Given the description of an element on the screen output the (x, y) to click on. 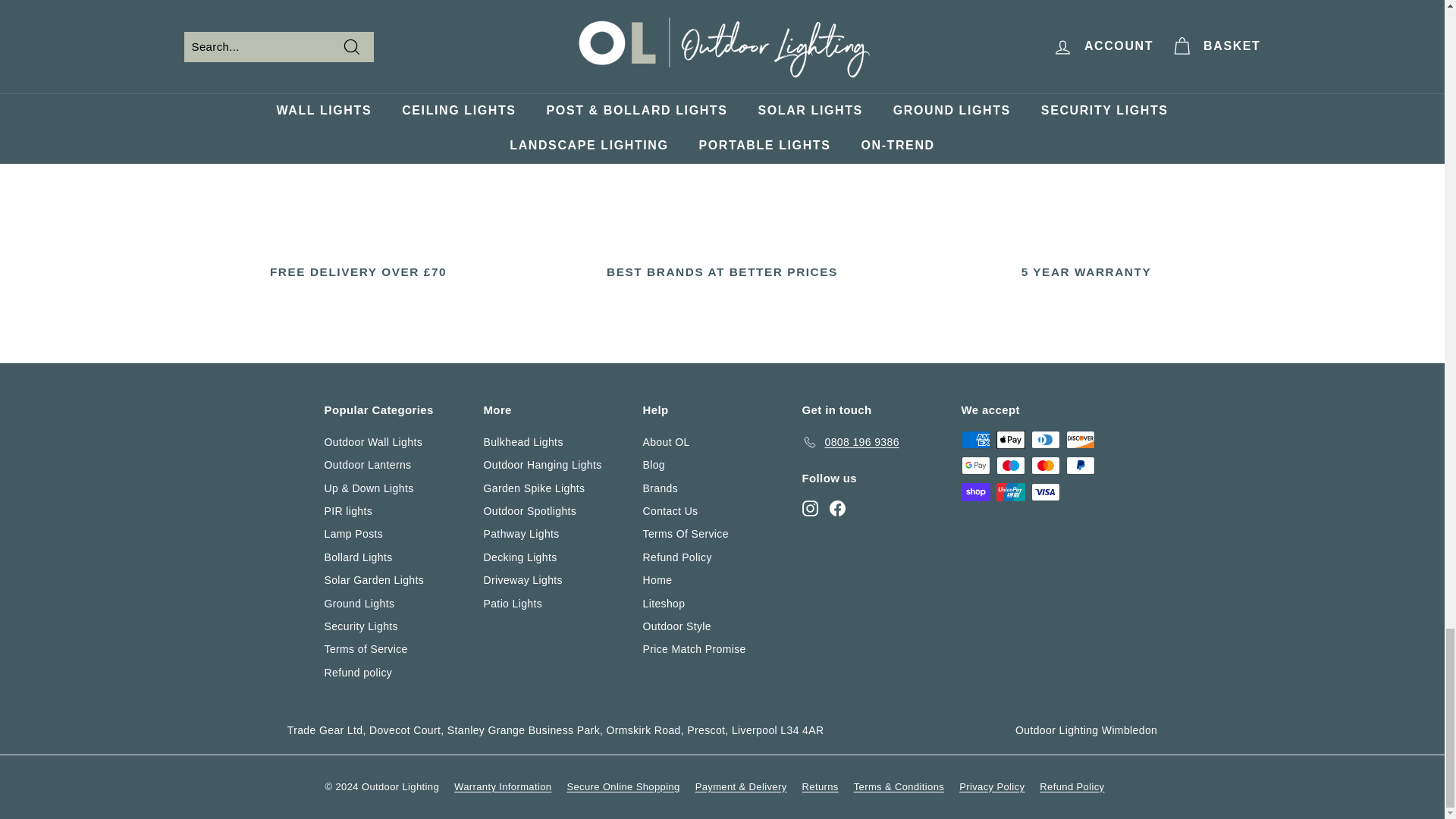
Discover (1079, 439)
Diners Club (1044, 439)
Shop Pay (975, 492)
Union Pay (1010, 492)
Maestro (1010, 465)
Mastercard (1044, 465)
Outdoor Lighting Wimbledon (1085, 729)
American Express (975, 439)
Outdoor Lighting on Facebook (837, 507)
Apple Pay (1010, 439)
